Given the description of an element on the screen output the (x, y) to click on. 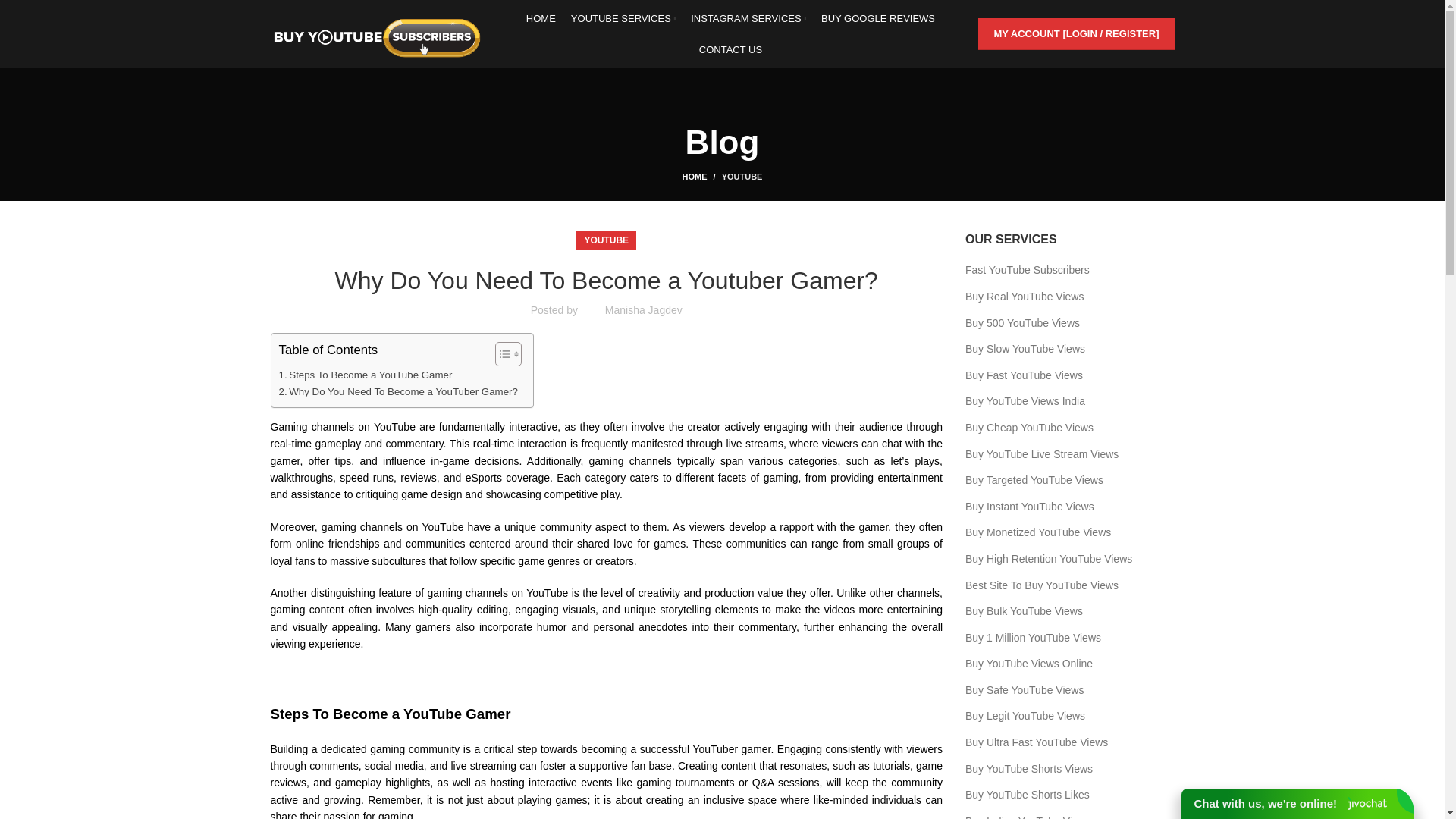
INSTAGRAM SERVICES (748, 18)
Why Do You Need To Become a YouTuber Gamer? (398, 391)
Steps To Become a YouTube Gamer (365, 374)
HOME (540, 18)
YOUTUBE SERVICES (622, 18)
